Given the description of an element on the screen output the (x, y) to click on. 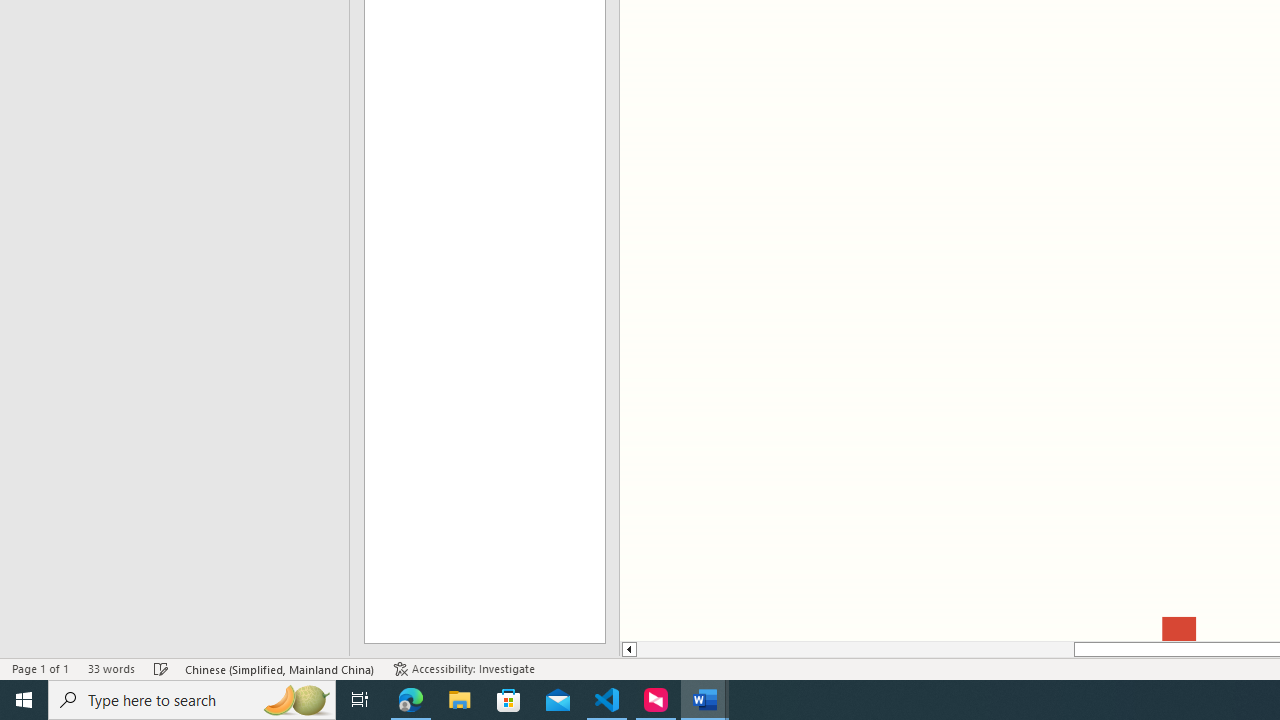
Language Chinese (Simplified, Mainland China) (279, 668)
Column left (628, 649)
Spelling and Grammar Check Checking (161, 668)
Page left (855, 649)
Page Number Page 1 of 1 (39, 668)
Accessibility Checker Accessibility: Investigate (464, 668)
